Given the description of an element on the screen output the (x, y) to click on. 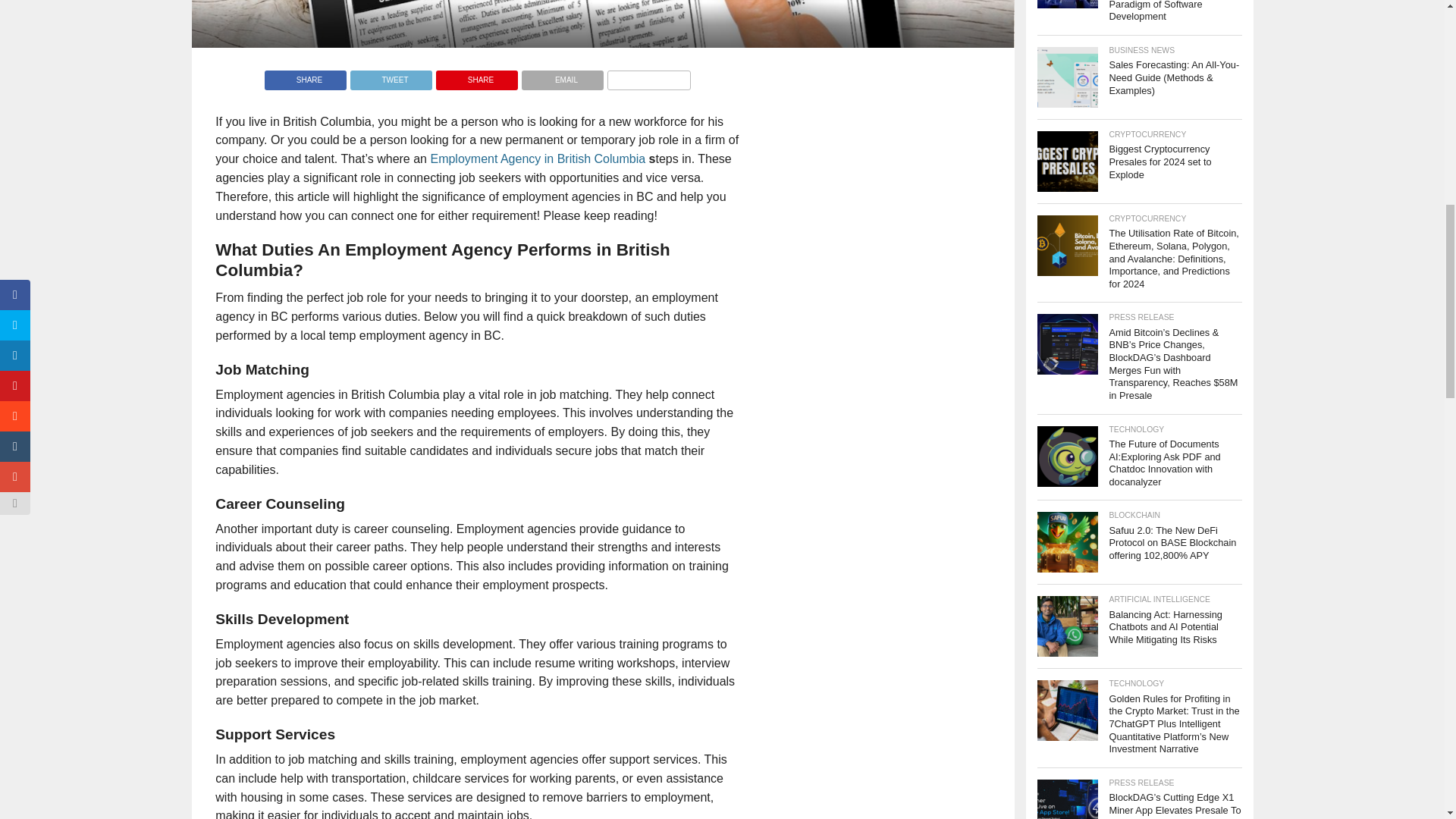
Tweet This Post (390, 75)
Share on Facebook (305, 75)
Pin This Post (476, 75)
